Given the description of an element on the screen output the (x, y) to click on. 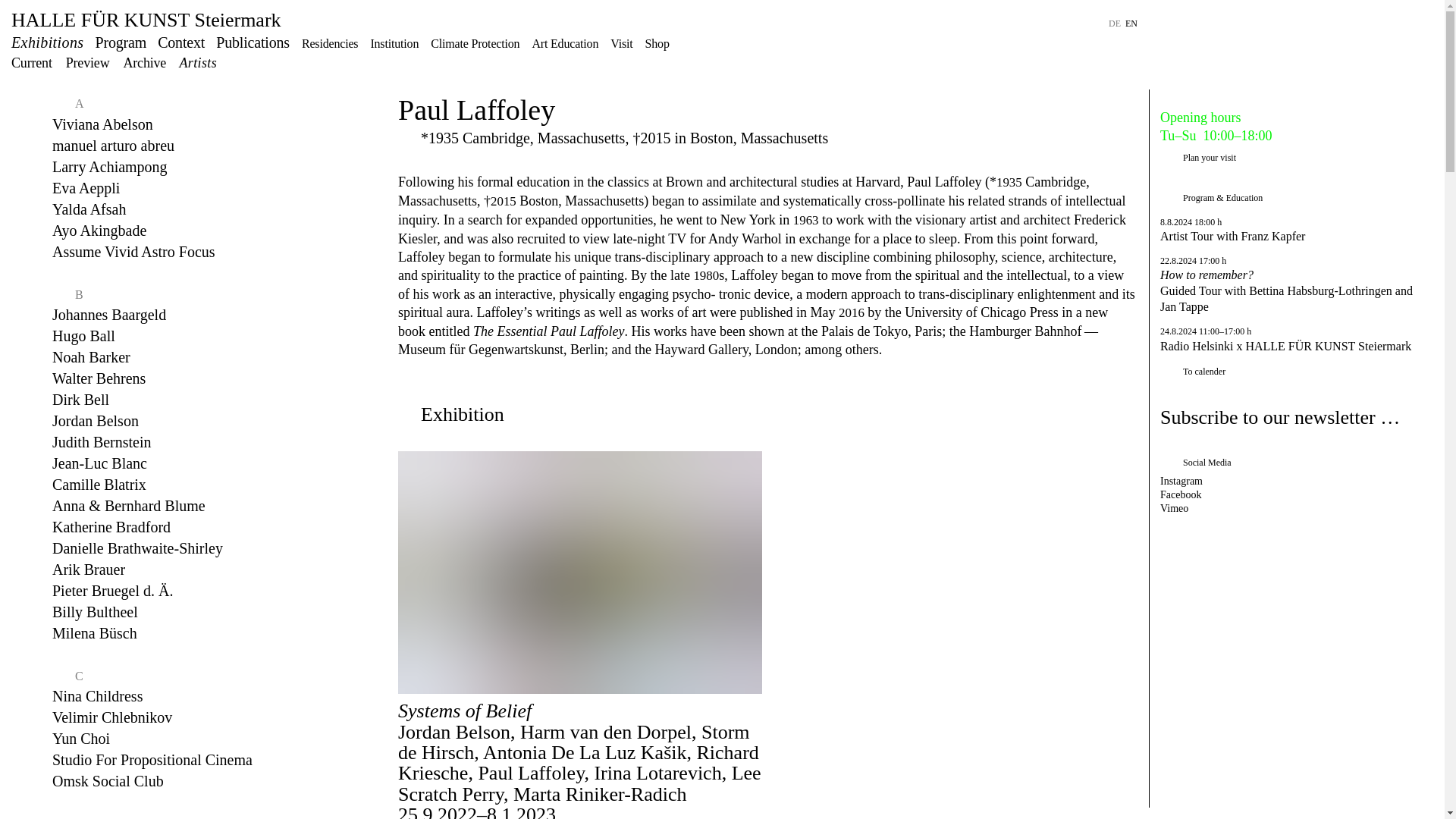
Artists (197, 62)
Exhibitions (47, 42)
Publications (252, 42)
Archive (143, 62)
Program (121, 42)
Visit (620, 42)
Art Education (564, 42)
Home (146, 20)
Context (181, 42)
Preview (87, 62)
Deutsch (1114, 23)
Shop (657, 42)
Residencies (329, 42)
Institution (394, 42)
Current (31, 62)
